Given the description of an element on the screen output the (x, y) to click on. 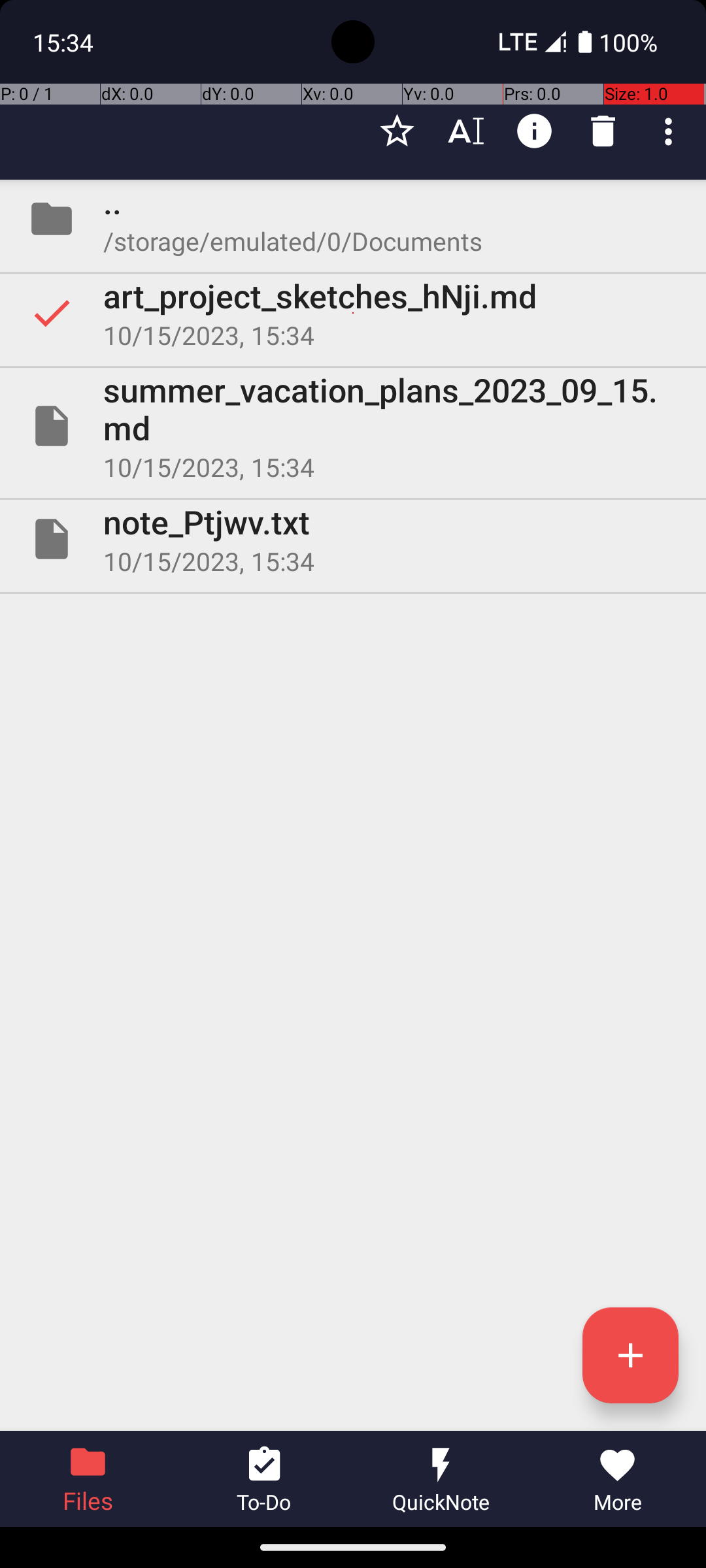
Favourite Element type: android.widget.TextView (396, 131)
Rename Element type: android.widget.TextView (465, 131)
Selected art_project_sketches_hNji.md  Element type: android.widget.LinearLayout (353, 312)
File summer_vacation_plans_2023_09_15.md  Element type: android.widget.LinearLayout (353, 425)
File note_Ptjwv.txt  Element type: android.widget.LinearLayout (353, 538)
